Given the description of an element on the screen output the (x, y) to click on. 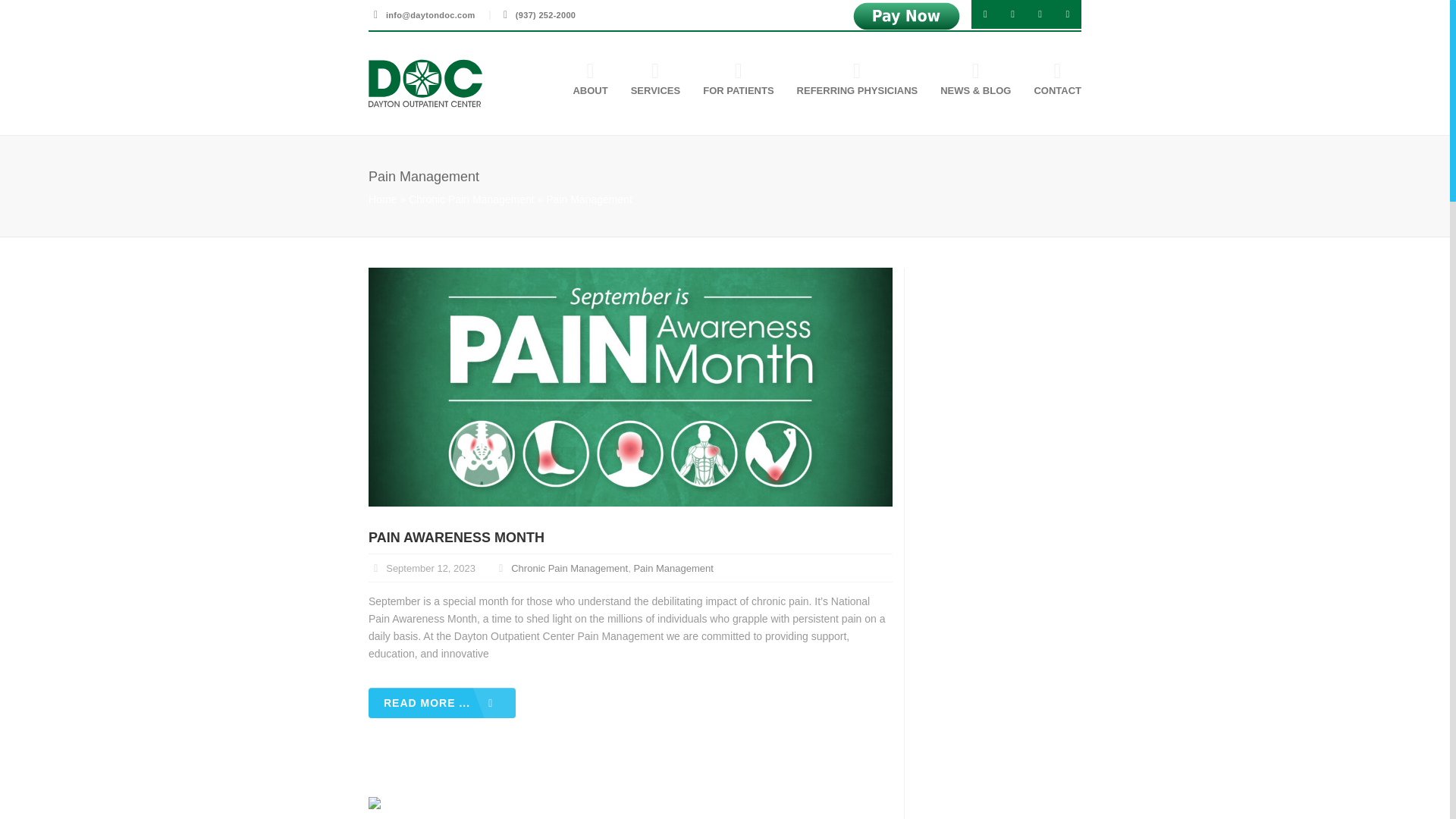
Twitter (984, 13)
Chronic Pain Management (471, 199)
Home (382, 199)
REFERRING PHYSICIANS (850, 81)
READ MORE ... (441, 702)
SERVICES (649, 81)
FOR PATIENTS (730, 81)
Dayton Outpatient Center (424, 83)
CONTACT (1050, 81)
ABOUT (583, 81)
